Given the description of an element on the screen output the (x, y) to click on. 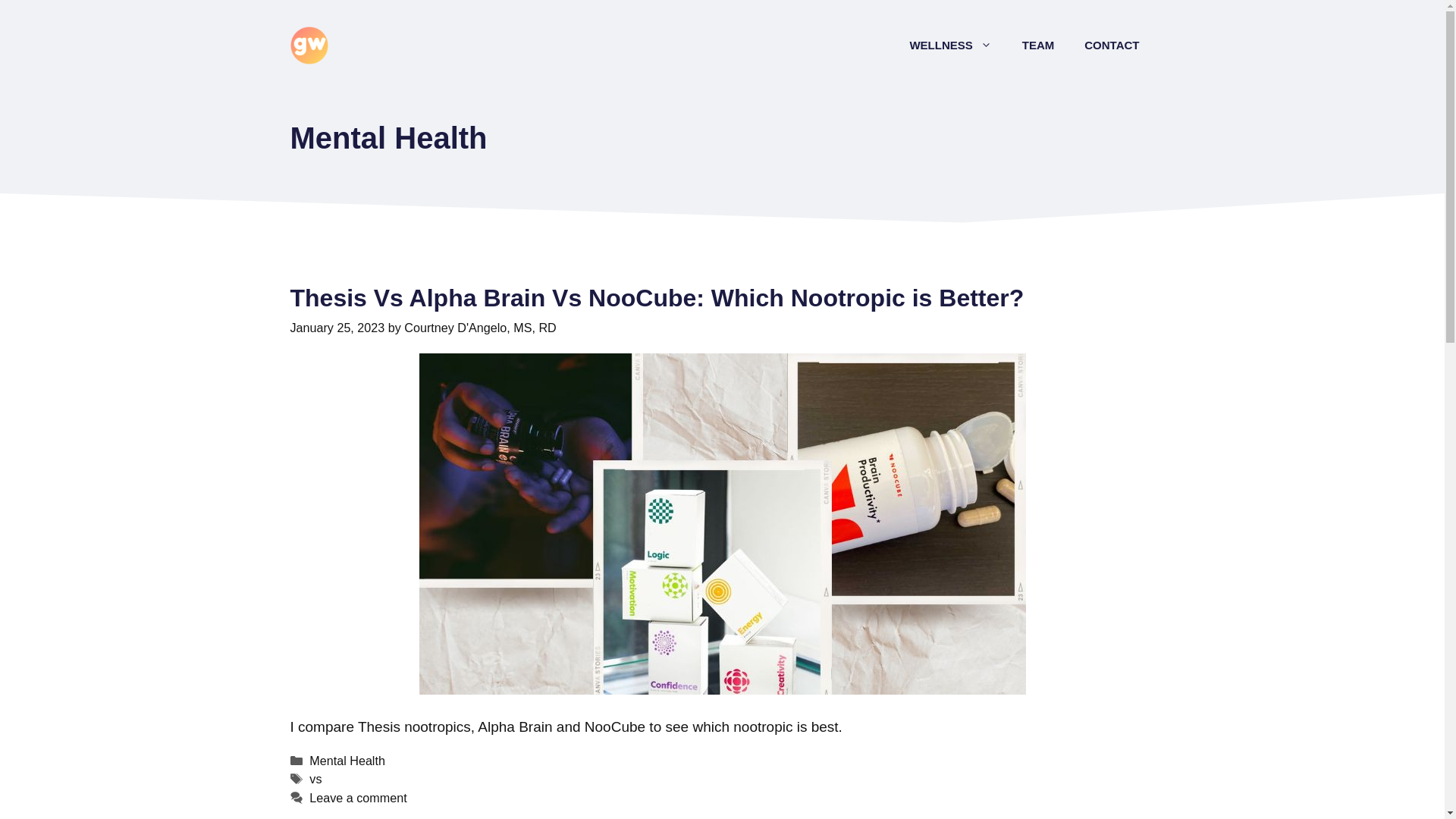
Mental Health (346, 760)
TEAM (1038, 44)
Thesis Vs Alpha Brain Vs NooCube: Which Nootropic is Better? (656, 298)
WELLNESS (949, 44)
Courtney D'Angelo, MS, RD (480, 327)
View all posts by Courtney D'Angelo, MS, RD (480, 327)
CONTACT (1111, 44)
Leave a comment (357, 797)
